Given the description of an element on the screen output the (x, y) to click on. 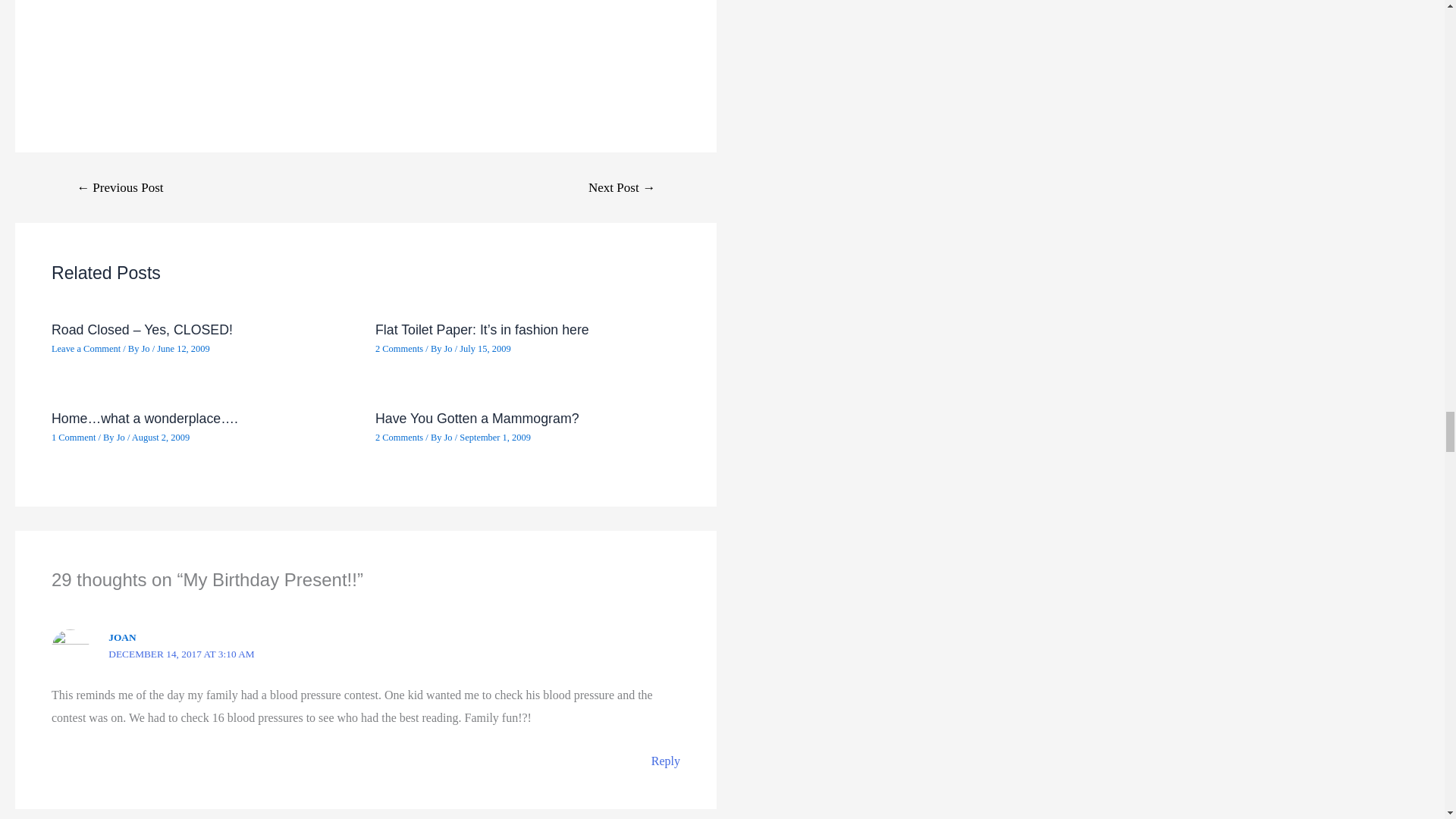
View all posts by Jo (122, 437)
View all posts by Jo (146, 348)
View all posts by Jo (449, 437)
View all posts by Jo (449, 348)
